Given the description of an element on the screen output the (x, y) to click on. 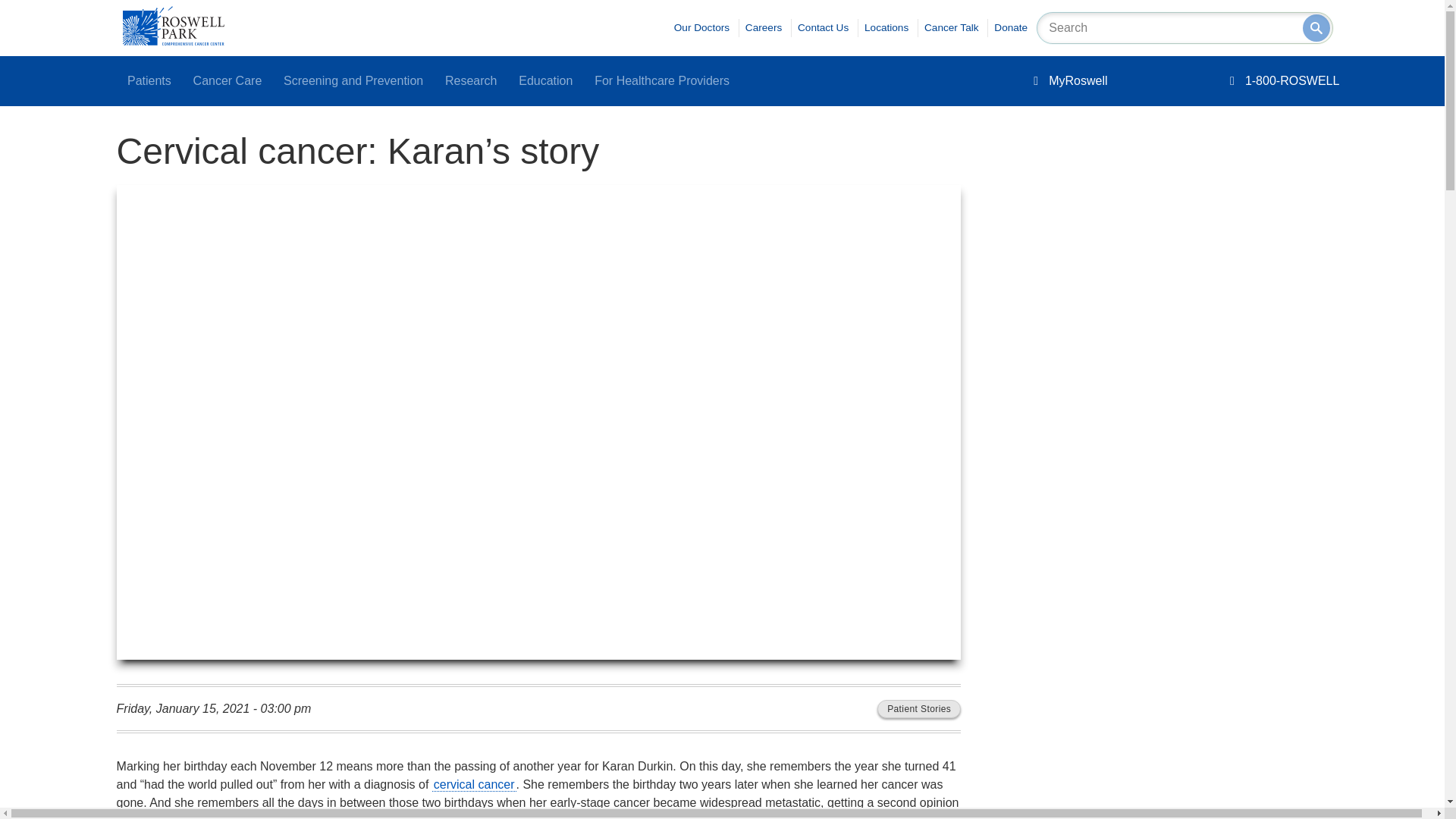
Home (173, 41)
Patients (149, 81)
